Given the description of an element on the screen output the (x, y) to click on. 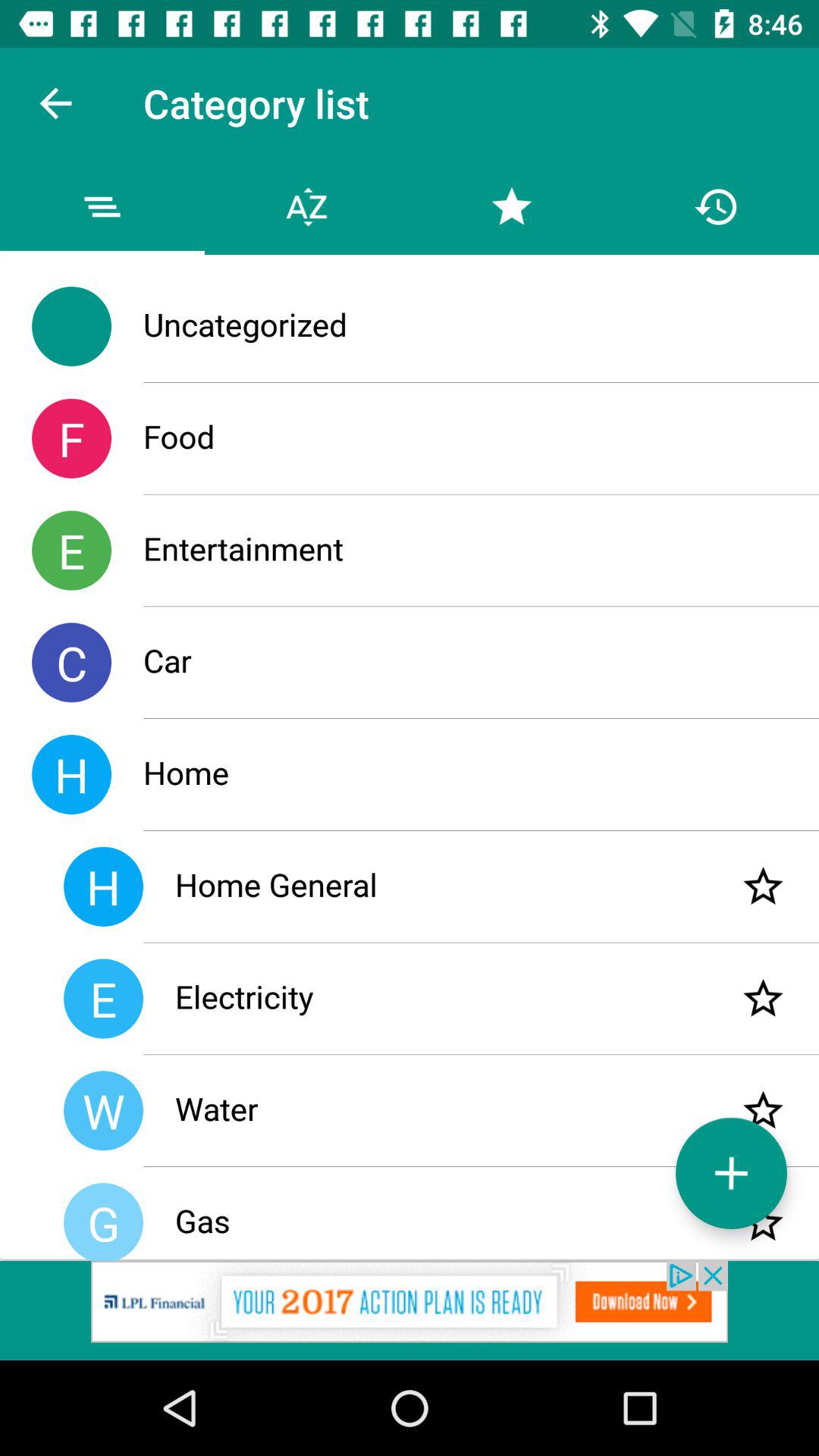
ipl add (409, 1310)
